Given the description of an element on the screen output the (x, y) to click on. 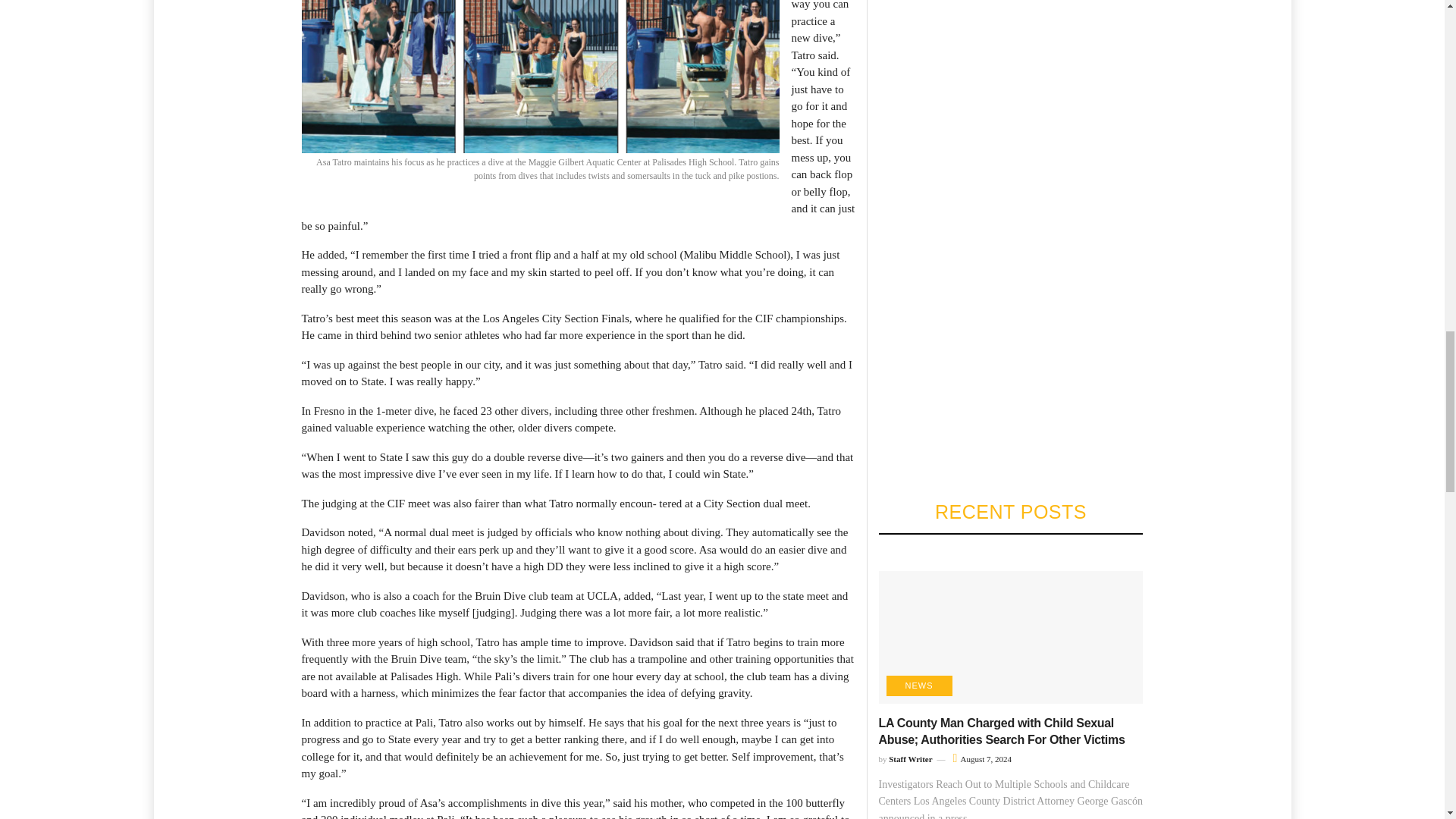
Staff Writer (909, 758)
NEWS (918, 685)
Page 18 (578, 703)
August 7, 2024 (982, 758)
